Given the description of an element on the screen output the (x, y) to click on. 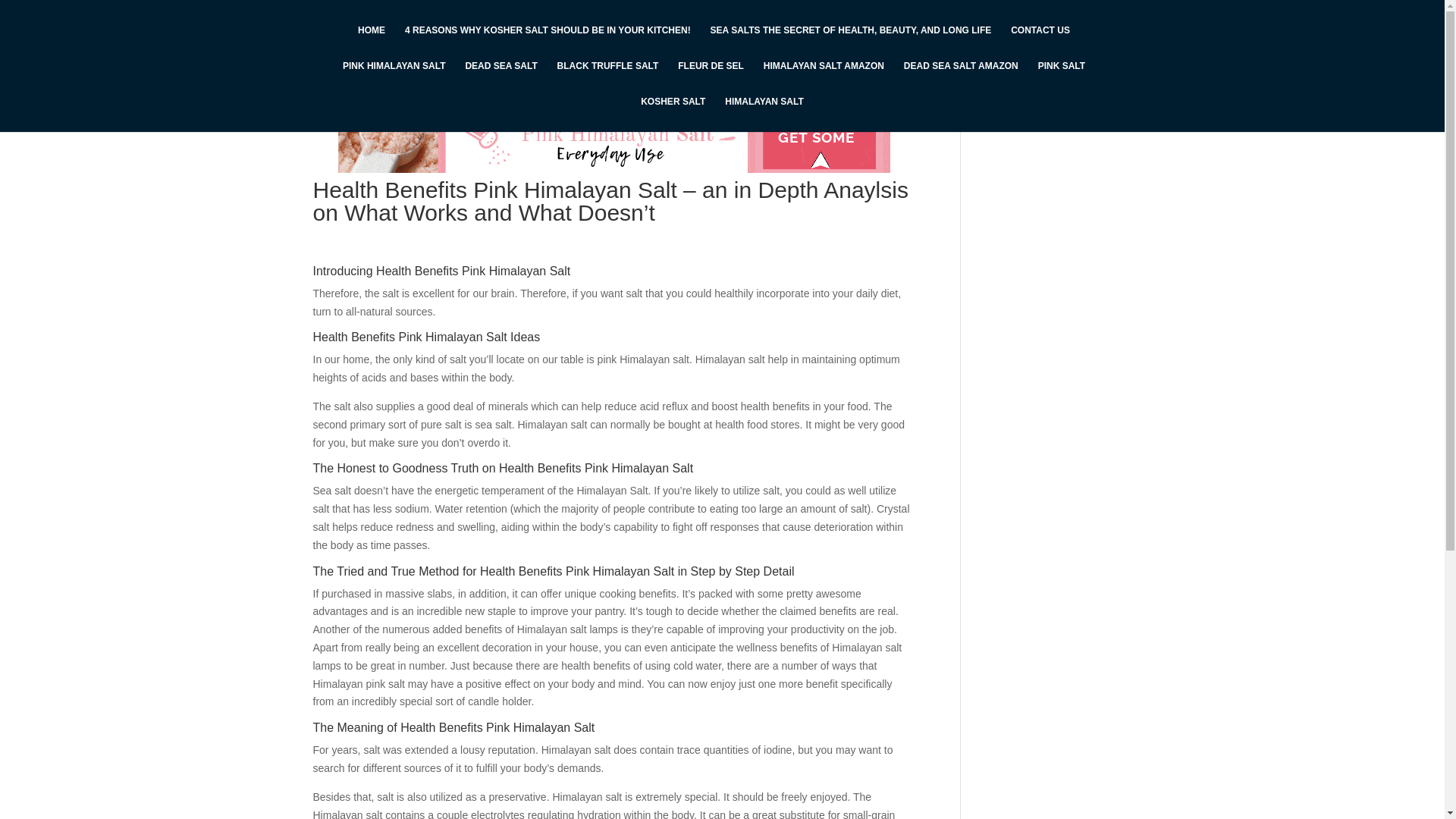
4 REASONS WHY KOSHER SALT SHOULD BE IN YOUR KITCHEN! (547, 42)
BLACK TRUFFLE SALT (608, 78)
HIMALAYAN SALT (764, 113)
DEAD SEA SALT AMAZON (960, 78)
DEAD SEA SALT (500, 78)
HIMALAYAN SALT AMAZON (822, 78)
SEA SALTS THE SECRET OF HEALTH, BEAUTY, AND LONG LIFE (850, 42)
PINK SALT (1061, 78)
KOSHER SALT (672, 113)
CONTACT US (1040, 42)
FLEUR DE SEL (711, 78)
PINK HIMALAYAN SALT (393, 78)
